Given the description of an element on the screen output the (x, y) to click on. 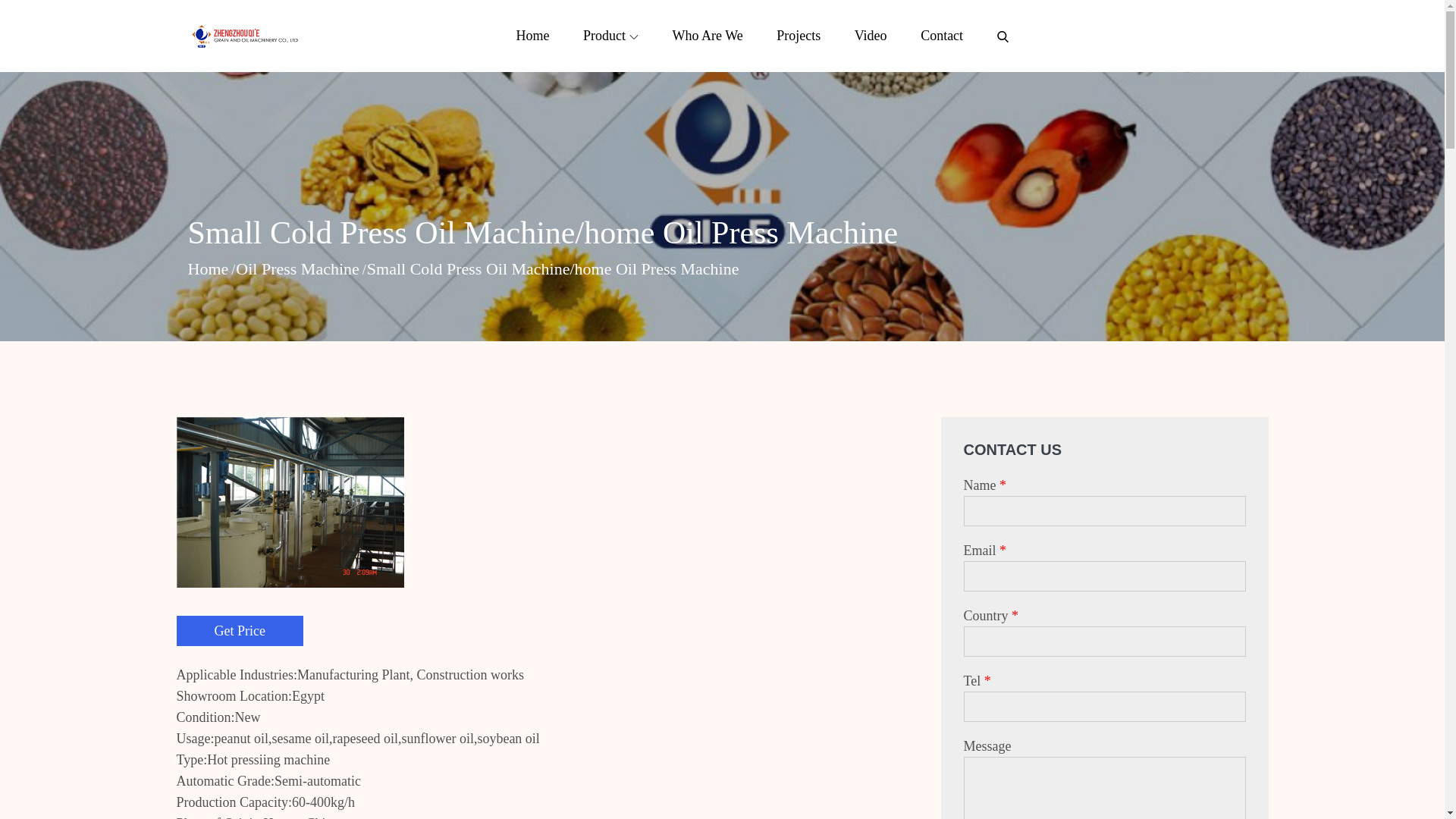
Product (610, 35)
Who Are We (706, 35)
high quality automatic oil extraction machine (423, 63)
